Given the description of an element on the screen output the (x, y) to click on. 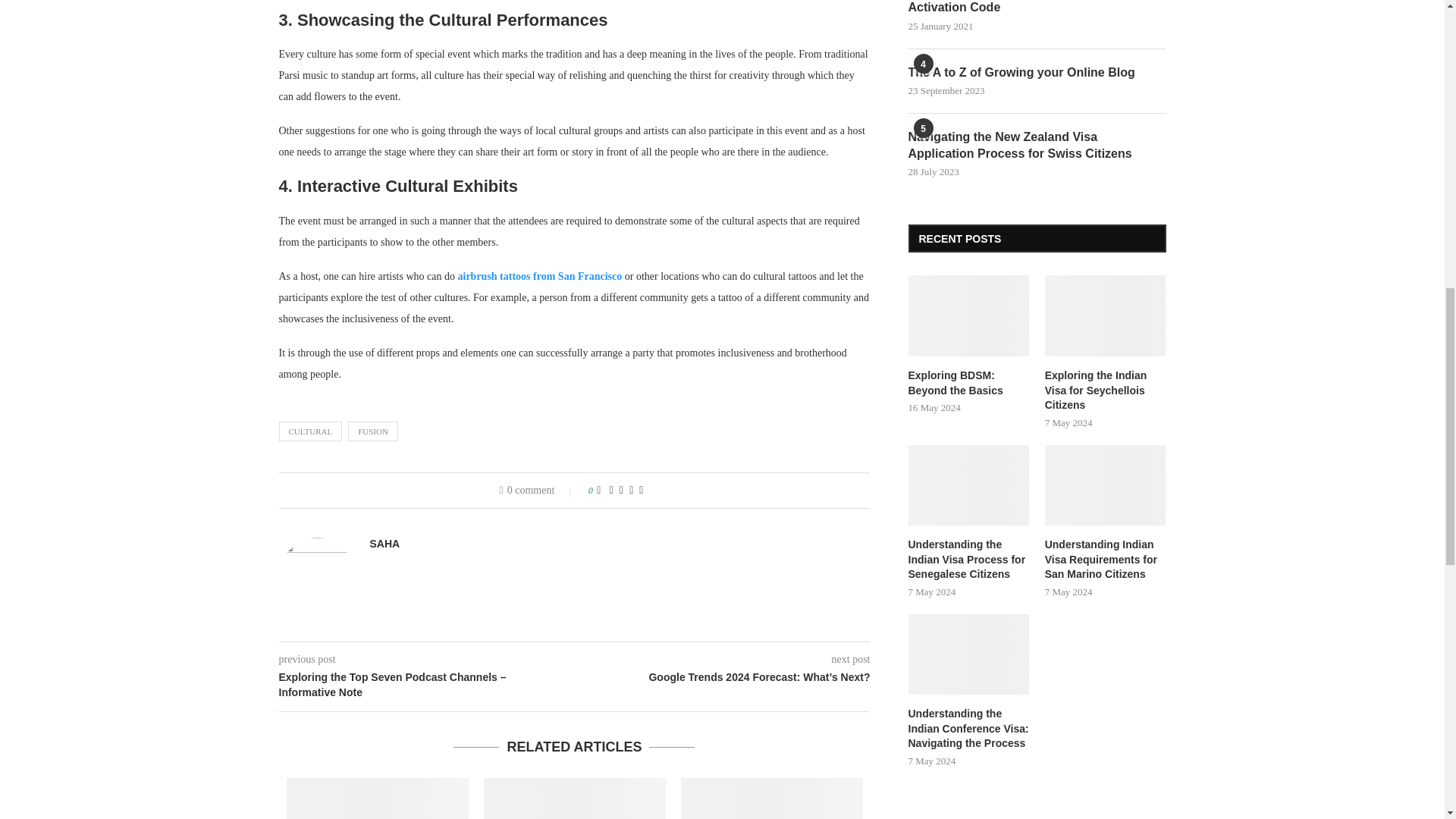
Unlocking Opportunities: US Visa for Belgian Citizens (574, 798)
airbrush tattoos from San Francisco (540, 276)
CULTURAL (310, 431)
FUSION (372, 431)
Author saha (384, 543)
